Given the description of an element on the screen output the (x, y) to click on. 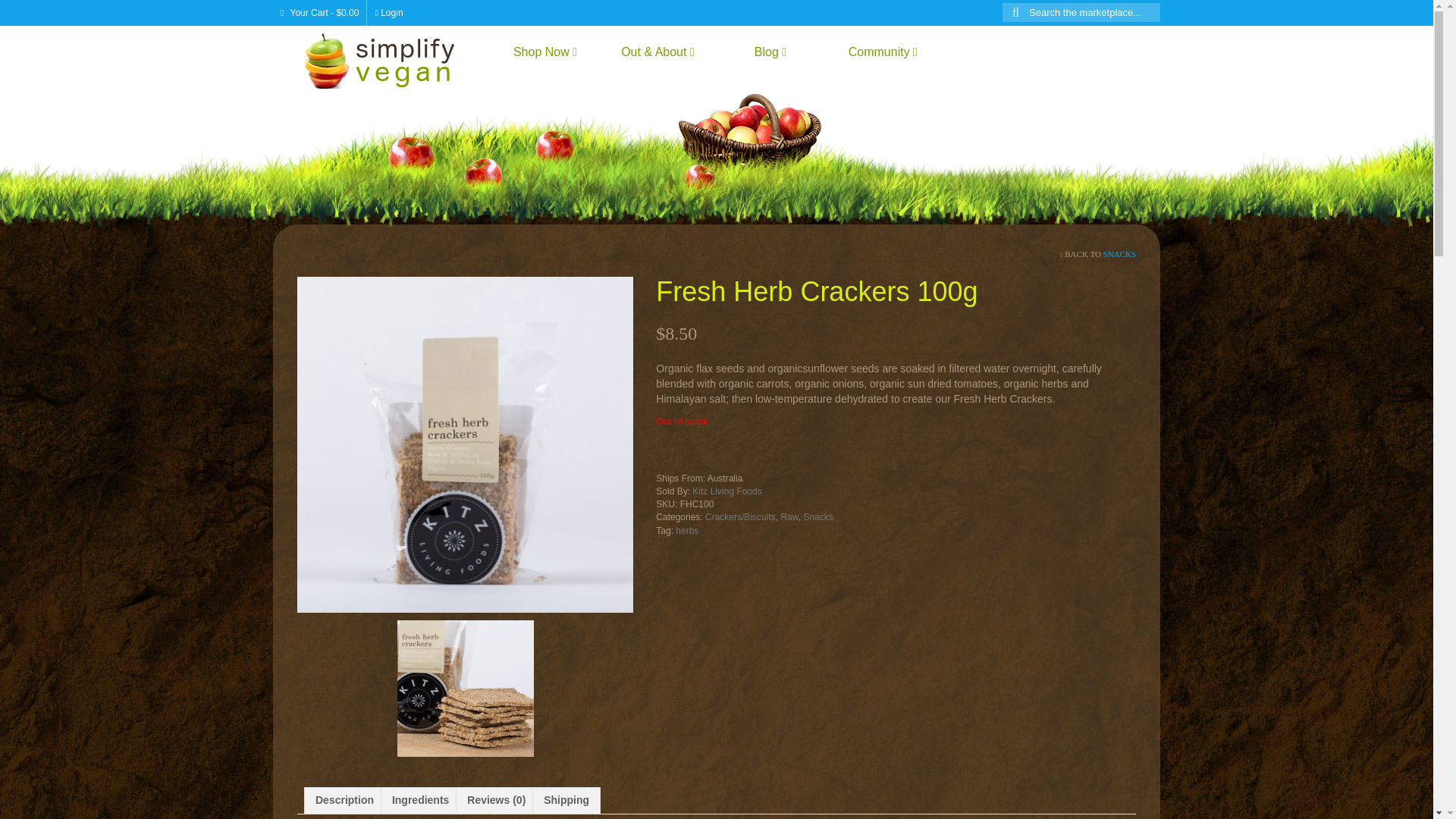
Login (388, 12)
Login (388, 12)
simplifyvegan.com.au (391, 59)
View your shopping cart (319, 12)
